Given the description of an element on the screen output the (x, y) to click on. 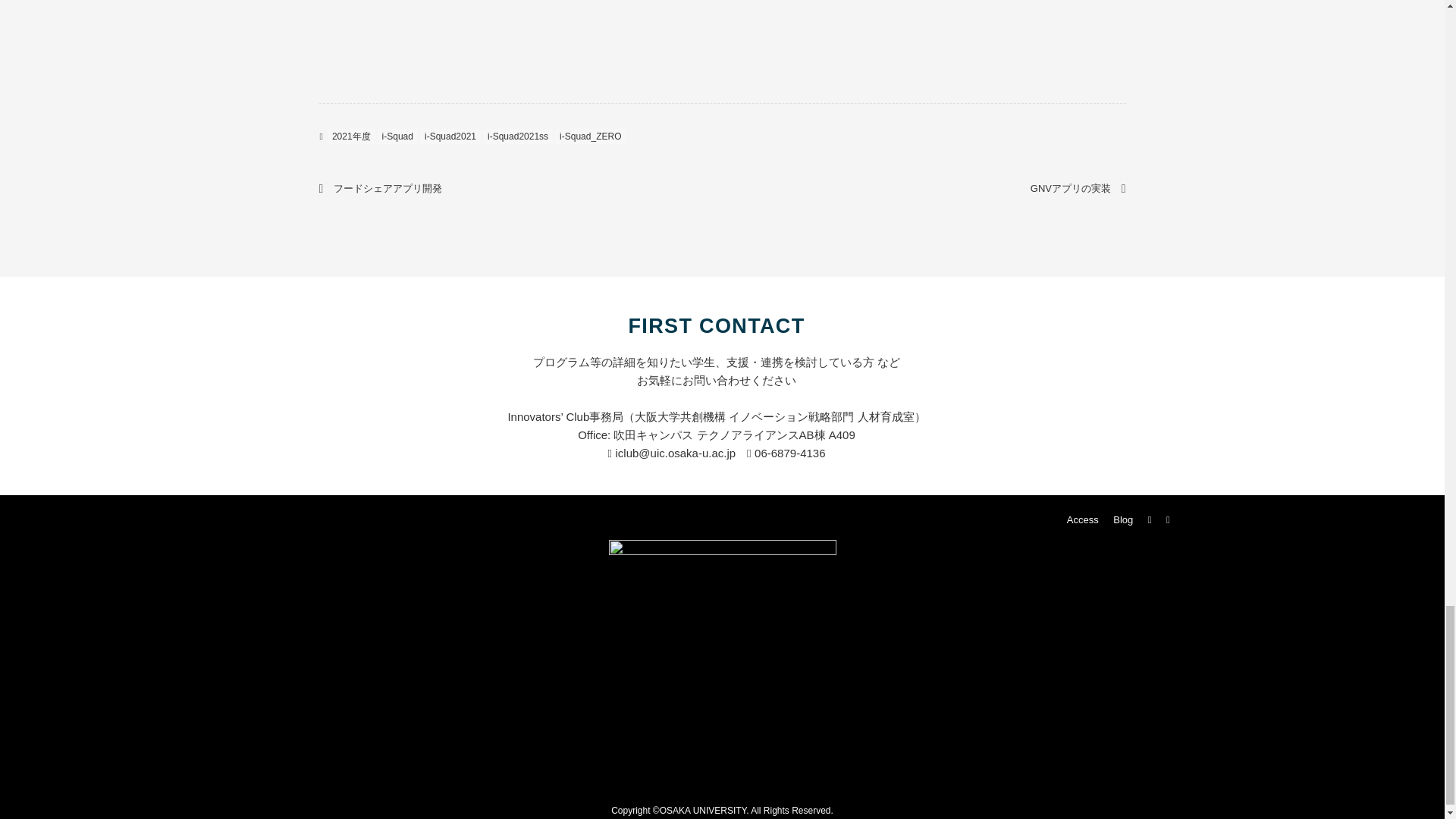
i-Squad2021ss (518, 136)
Blog (1122, 520)
06-6879-4136 (785, 452)
Access (1082, 520)
i-Squad (397, 136)
i-Squad2021 (450, 136)
